Given the description of an element on the screen output the (x, y) to click on. 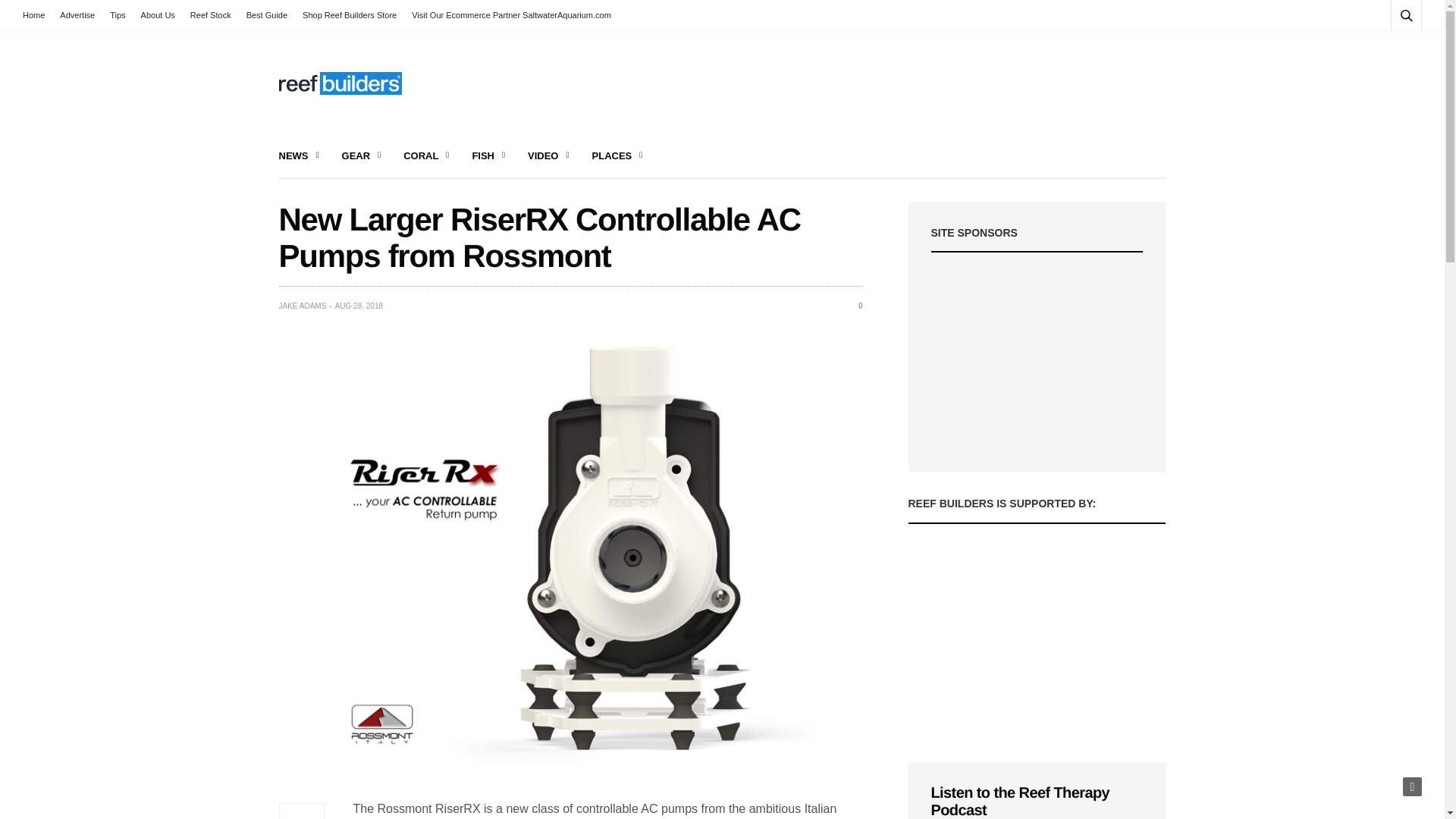
About Us (158, 15)
Tips (116, 15)
Search (1386, 51)
NEWS (298, 156)
Best Guide (266, 15)
Shop Reef Builders Store (349, 15)
Posts by Jake Adams (302, 306)
Reef Stock (210, 15)
Visit Our Ecommerce Partner SaltwaterAquarium.com (511, 15)
GEAR (361, 156)
New Larger RiserRX Controllable AC Pumps from Rossmont (853, 306)
Home (37, 15)
Advertise (76, 15)
